Given the description of an element on the screen output the (x, y) to click on. 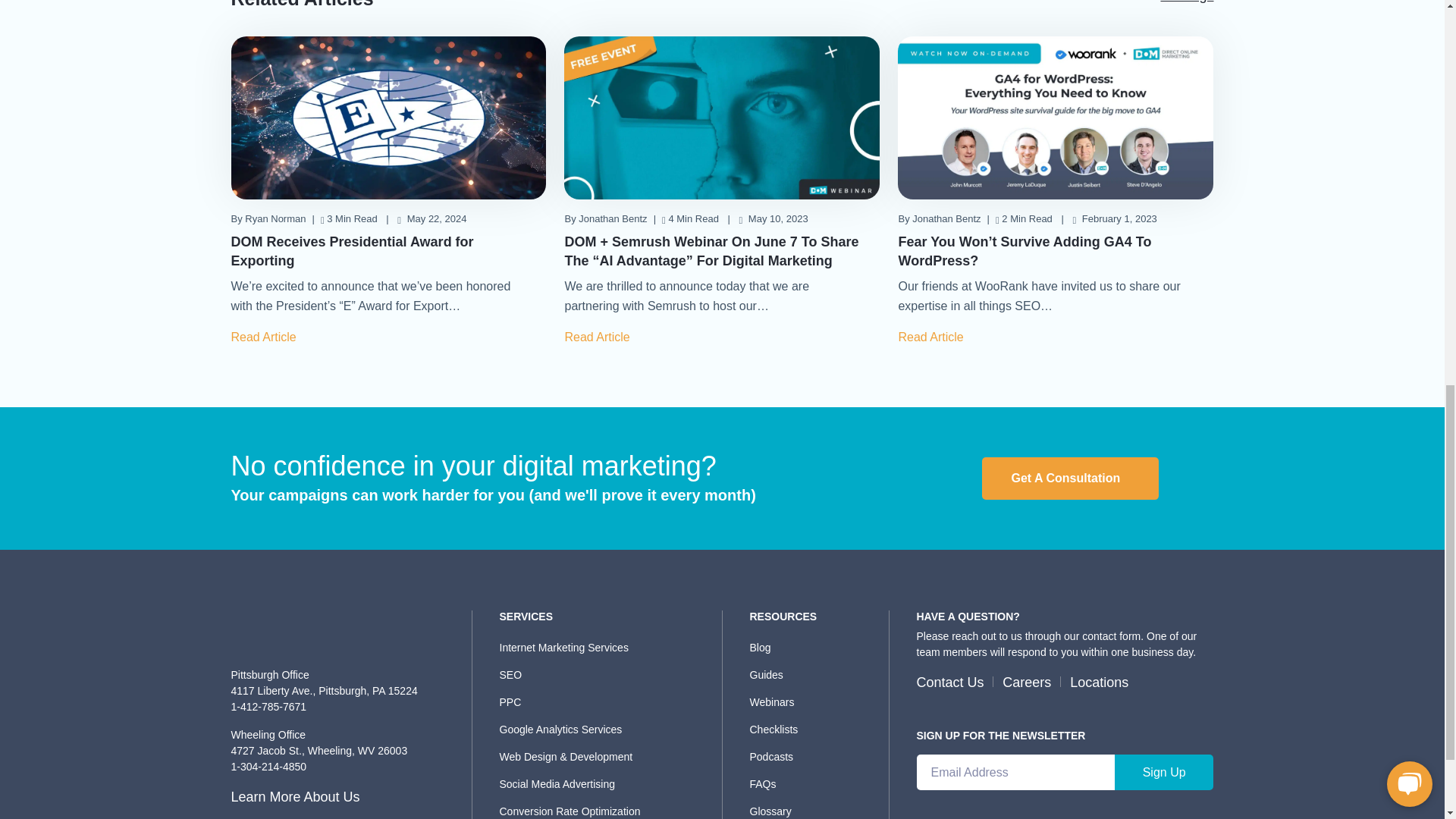
PPC (605, 701)
SEO (605, 674)
Read Article (601, 336)
Sign Up (1164, 772)
Google Analytics Services (605, 729)
All Blogs (1186, 2)
Internet Marketing Services (605, 647)
DOM Receives Presidential Award for Exporting (351, 251)
Read Article (267, 336)
